Given the description of an element on the screen output the (x, y) to click on. 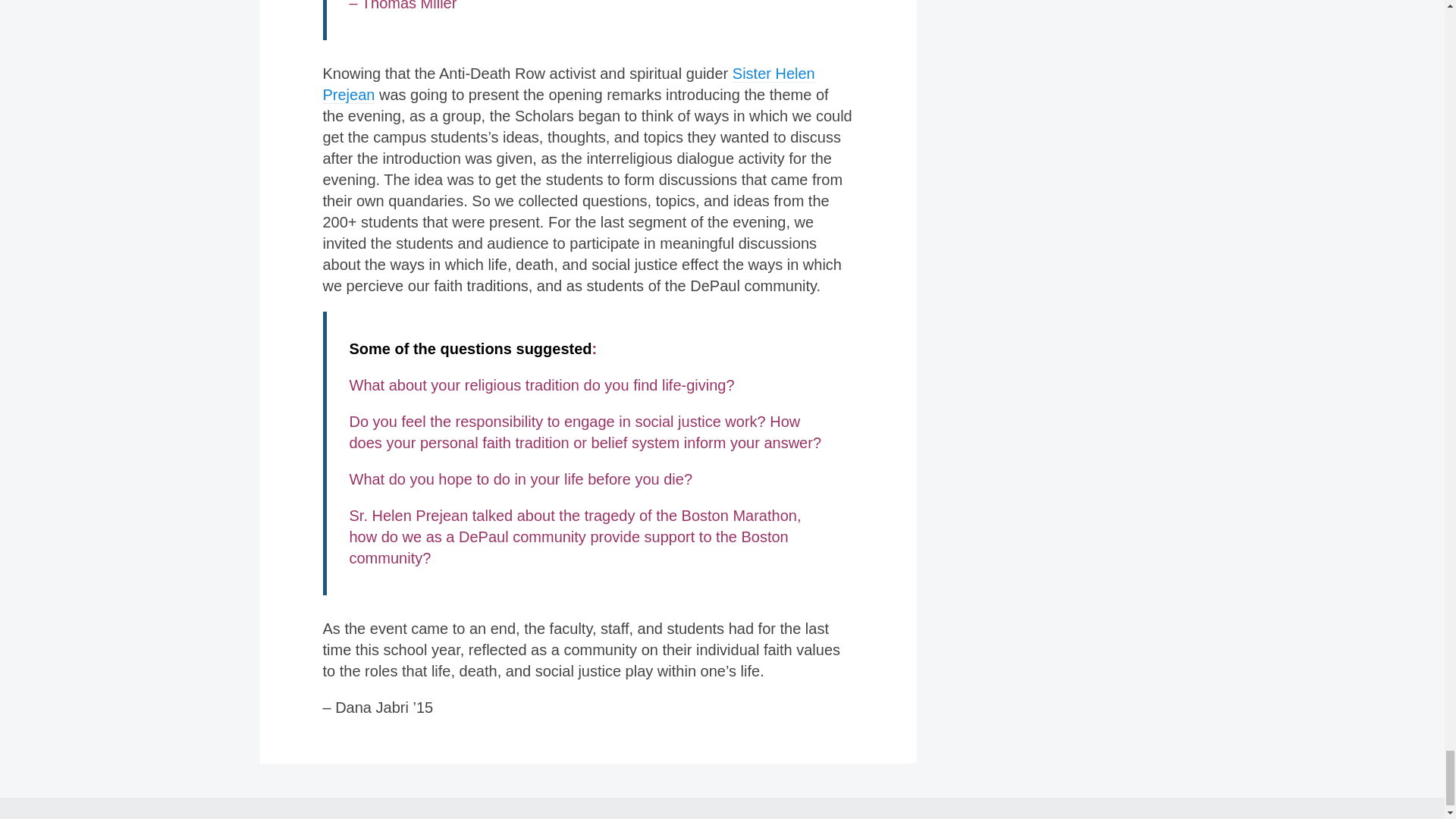
Sister Helen Prejean (569, 84)
